Given the description of an element on the screen output the (x, y) to click on. 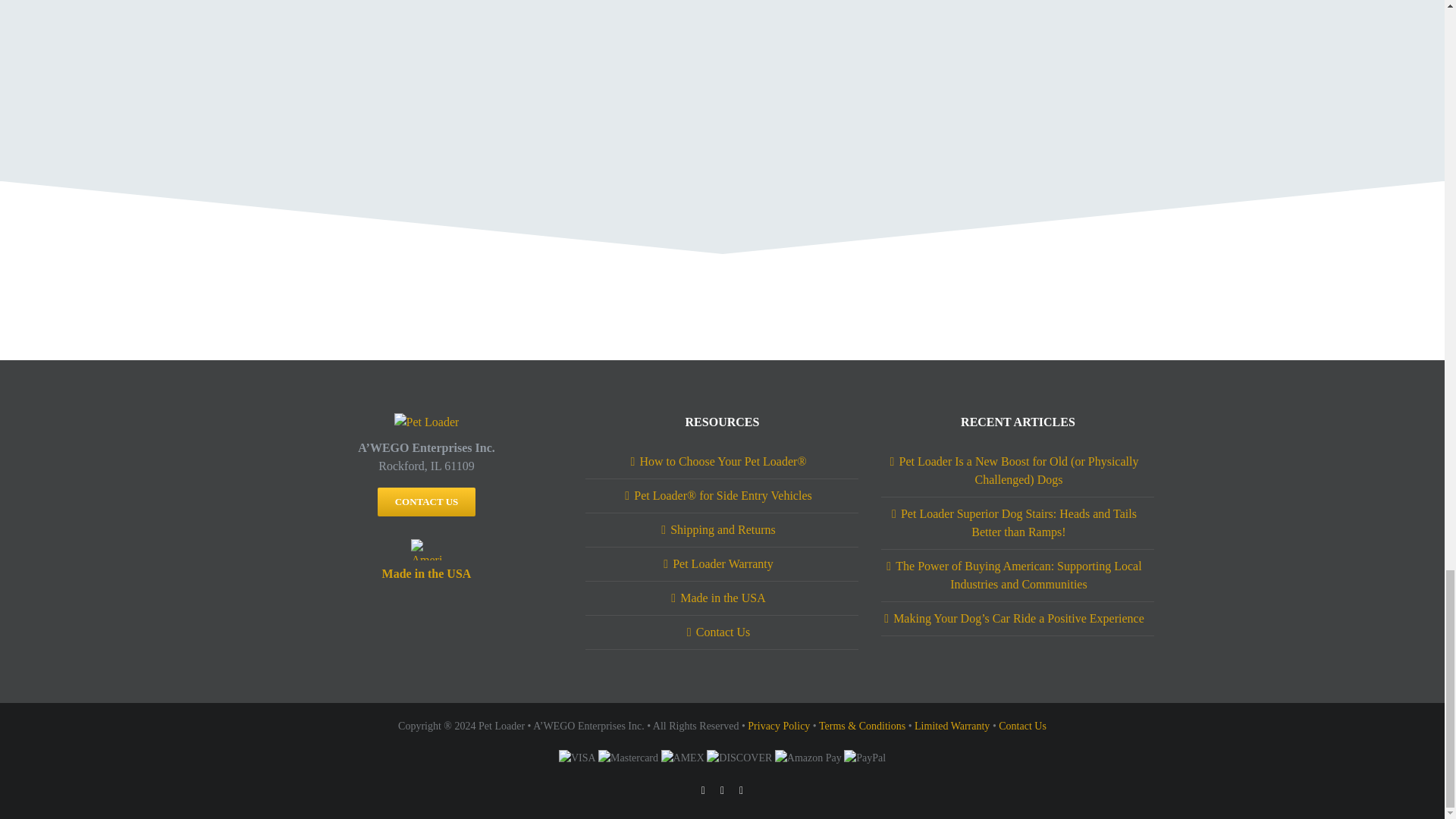
CONTACT US (426, 501)
Made in the USA (425, 574)
